Given the description of an element on the screen output the (x, y) to click on. 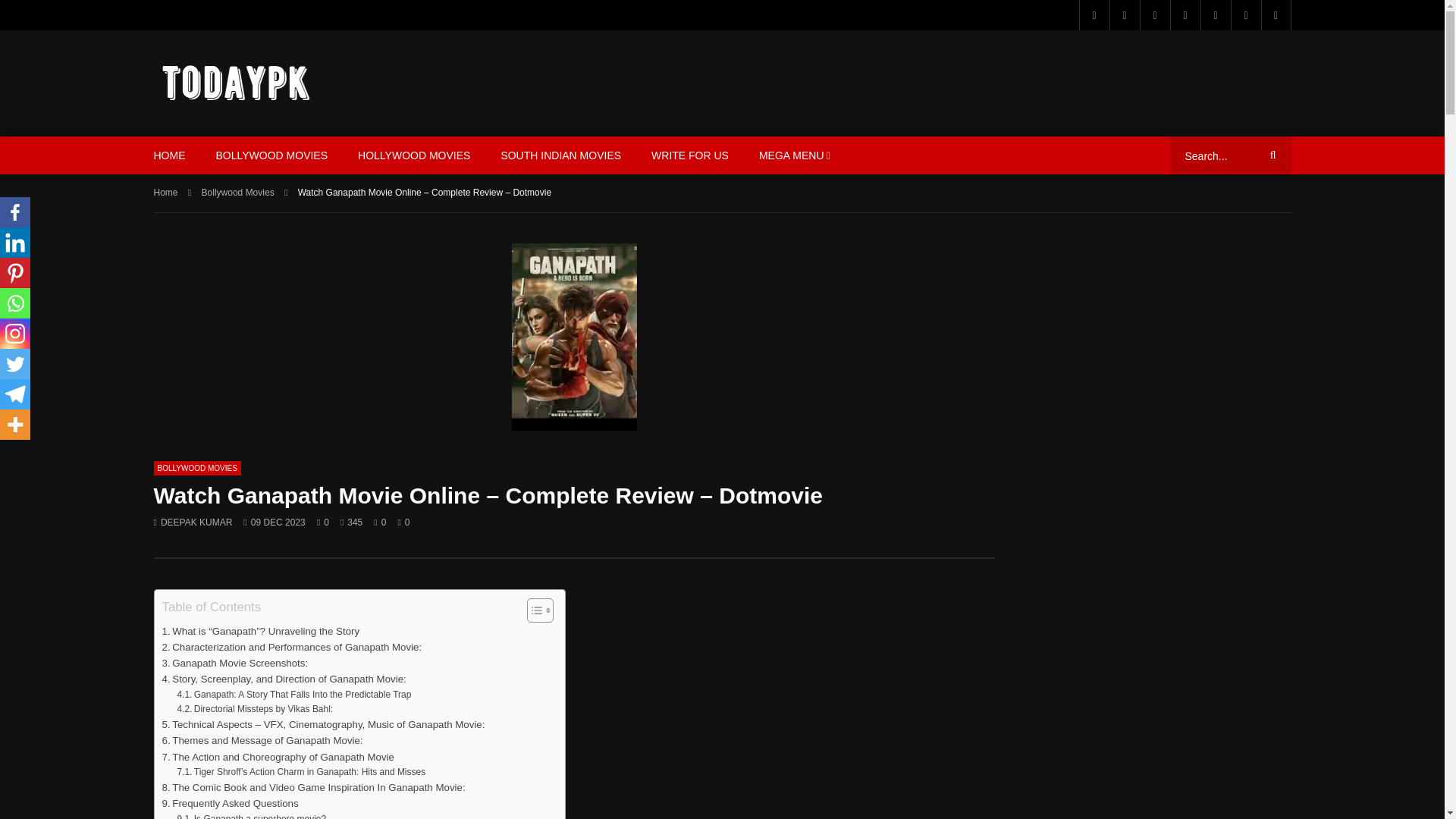
Bollywood Movies (238, 192)
Facebook (1093, 15)
Pinterest (1153, 15)
BOLLYWOOD MOVIES (196, 468)
Ganapath: A Story That Falls Into the Predictable Trap (293, 694)
Twitter (1123, 15)
Story, Screenplay, and Direction of Ganapath Movie: (283, 678)
Instagram (1214, 15)
WRITE FOR US (690, 155)
Characterization and Performances of Ganapath Movie: (291, 647)
